Given the description of an element on the screen output the (x, y) to click on. 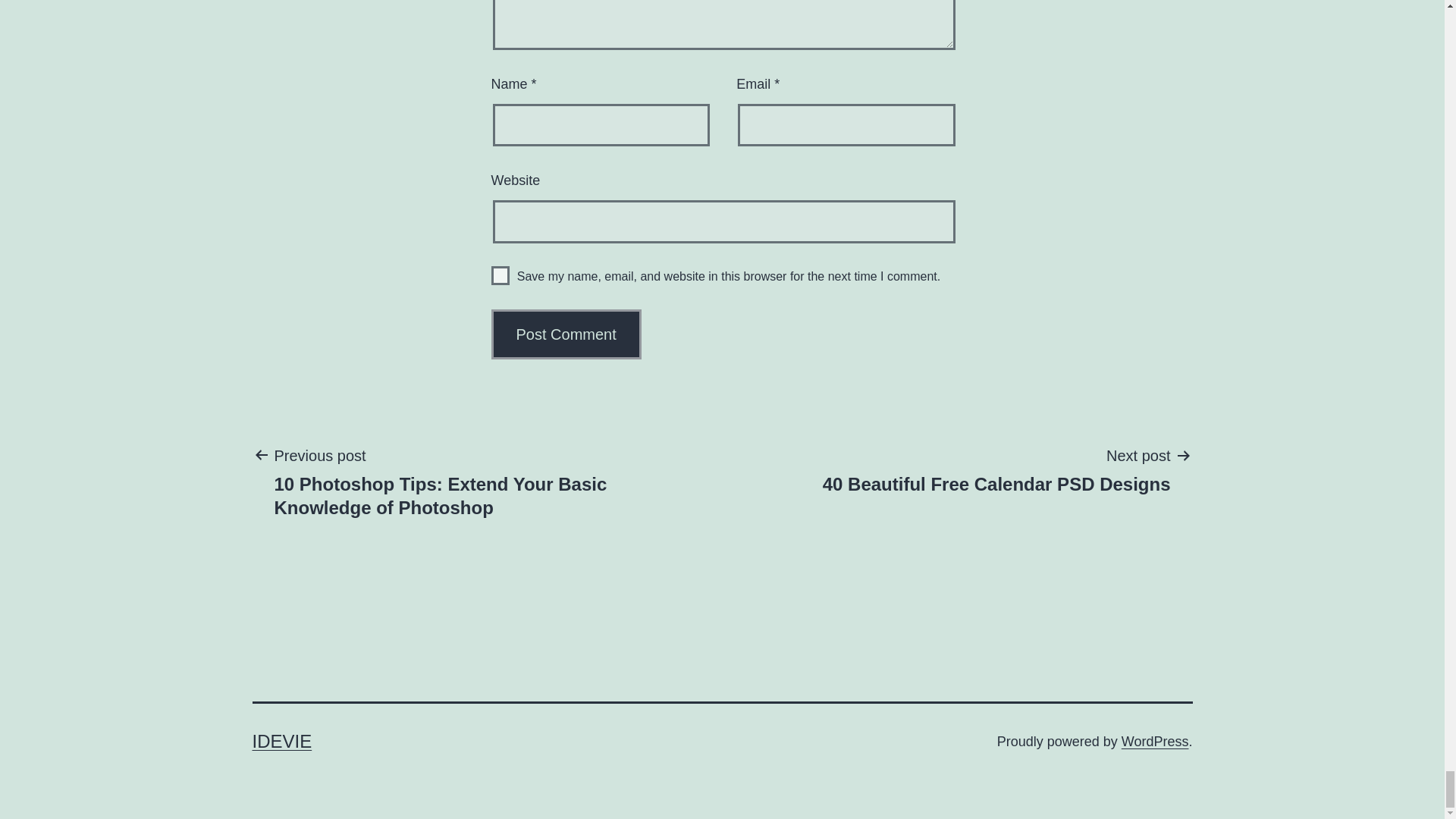
Post Comment (567, 334)
yes (500, 275)
